Given the description of an element on the screen output the (x, y) to click on. 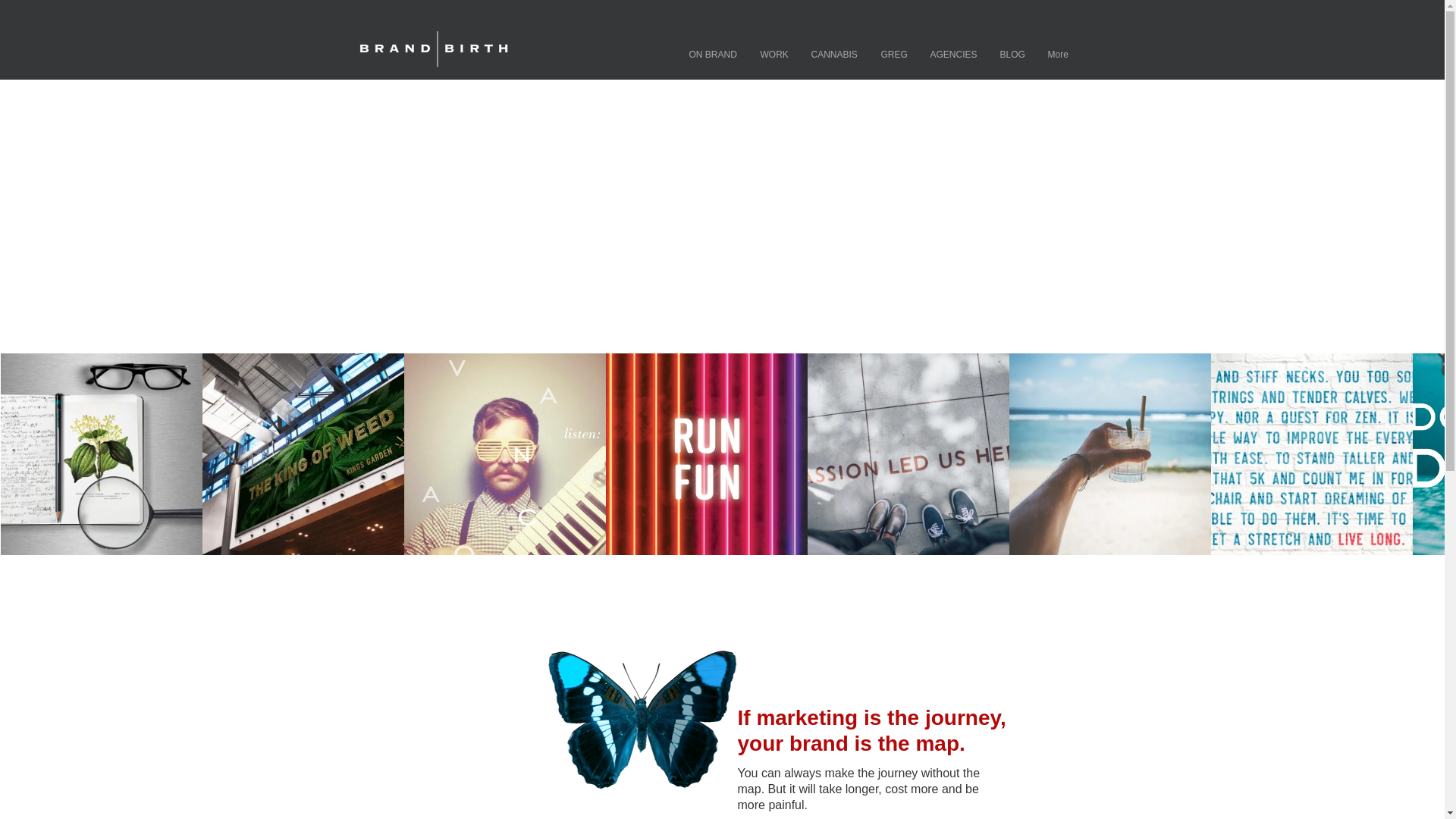
WORK (774, 54)
BLOG (1012, 54)
GREG (893, 54)
ON BRAND (713, 54)
AGENCIES (953, 54)
CANNABIS (834, 54)
